Given the description of an element on the screen output the (x, y) to click on. 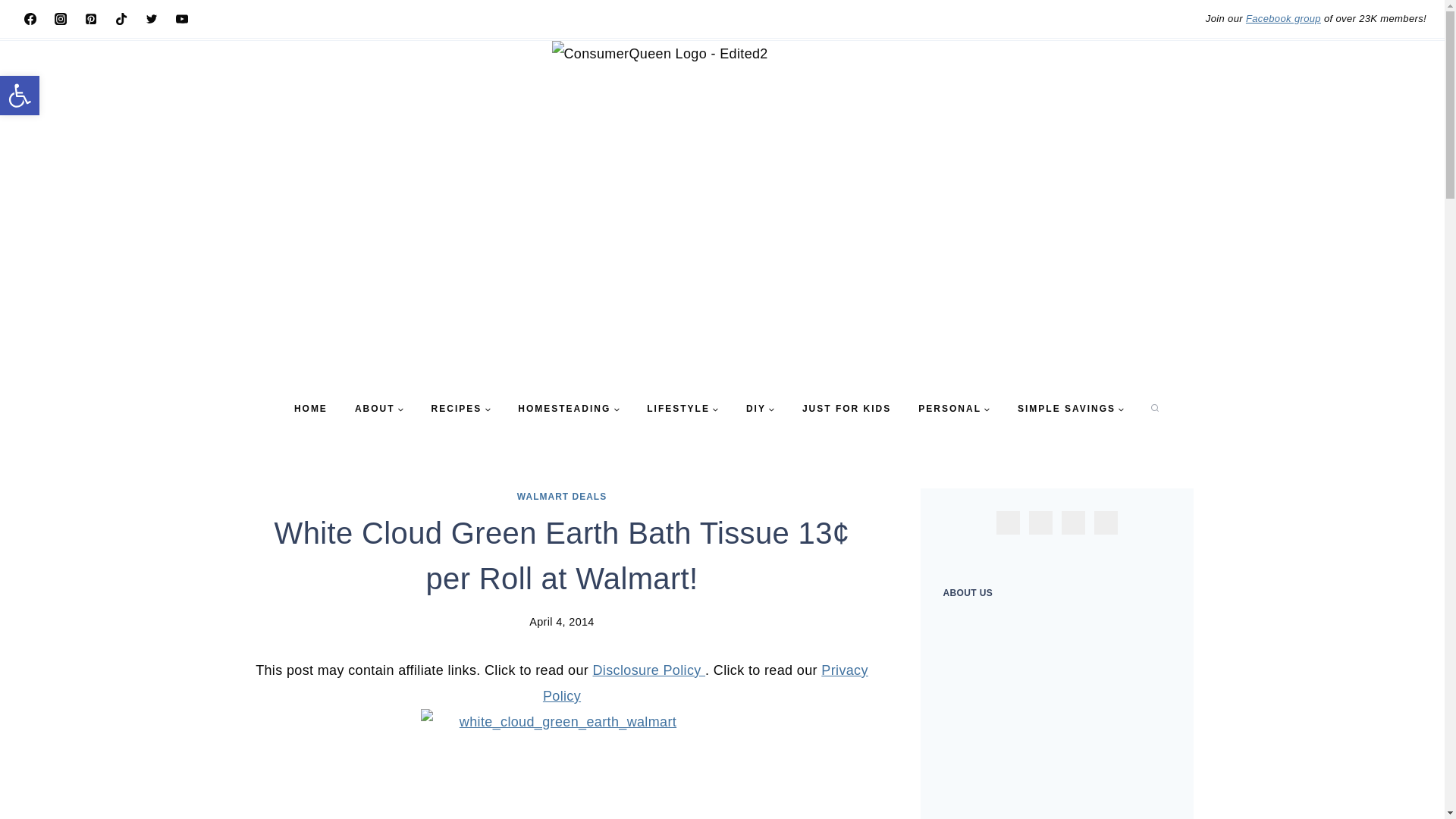
HOMESTEADING (568, 408)
ABOUT (378, 408)
HOME (310, 408)
Facebook group (1283, 18)
Accessibility Tools (19, 95)
RECIPES (461, 408)
